Given the description of an element on the screen output the (x, y) to click on. 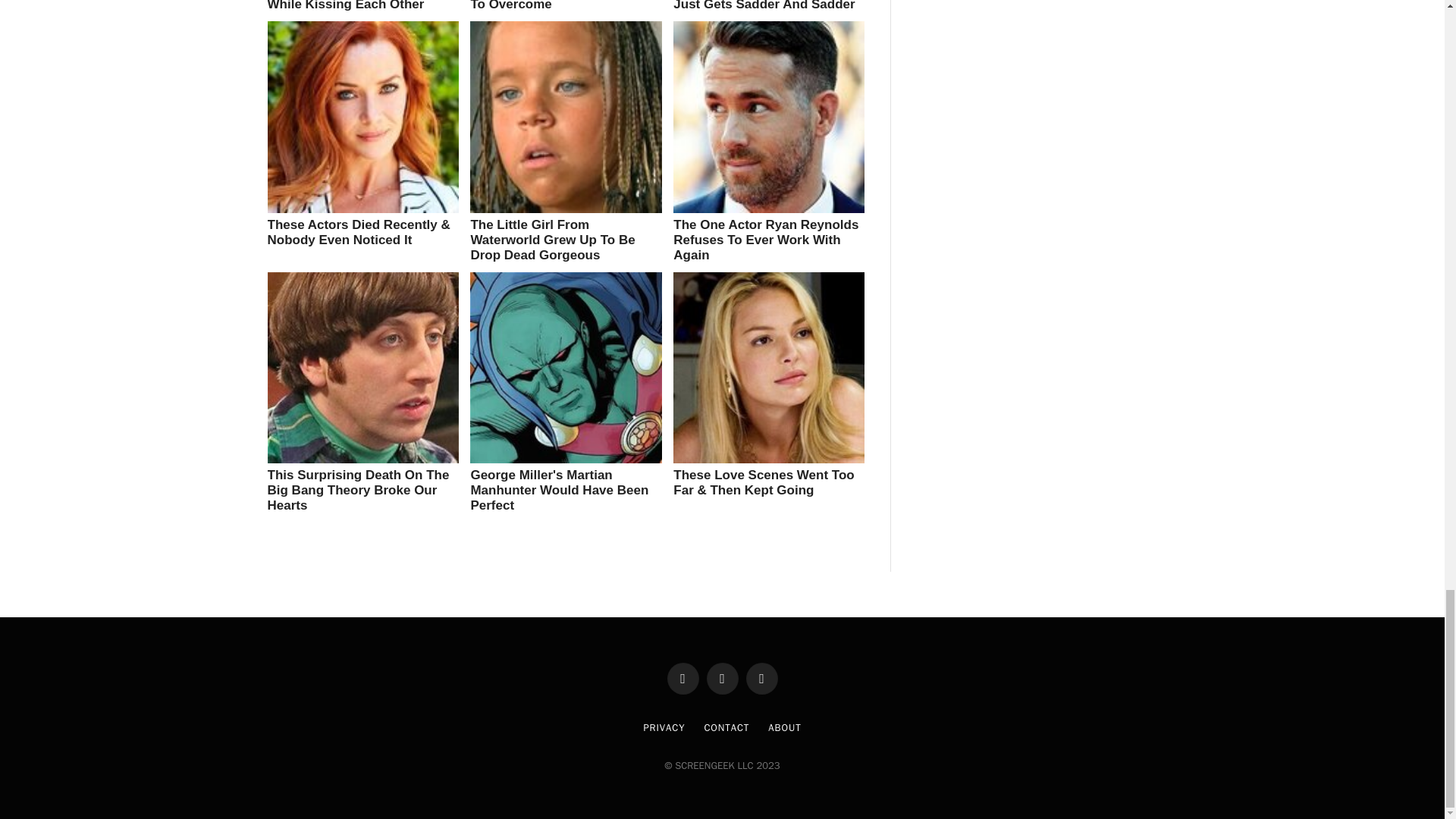
Co-Stars Who Lost All Control While Kissing Each Other (358, 5)
The One Actor Ryan Reynolds Refuses To Ever Work With Again (765, 239)
The Tragedy Of Mayim Bialik Just Gets Sadder And Sadder (763, 5)
The Tragedy Blake Lively Had To Overcome (561, 5)
